Given the description of an element on the screen output the (x, y) to click on. 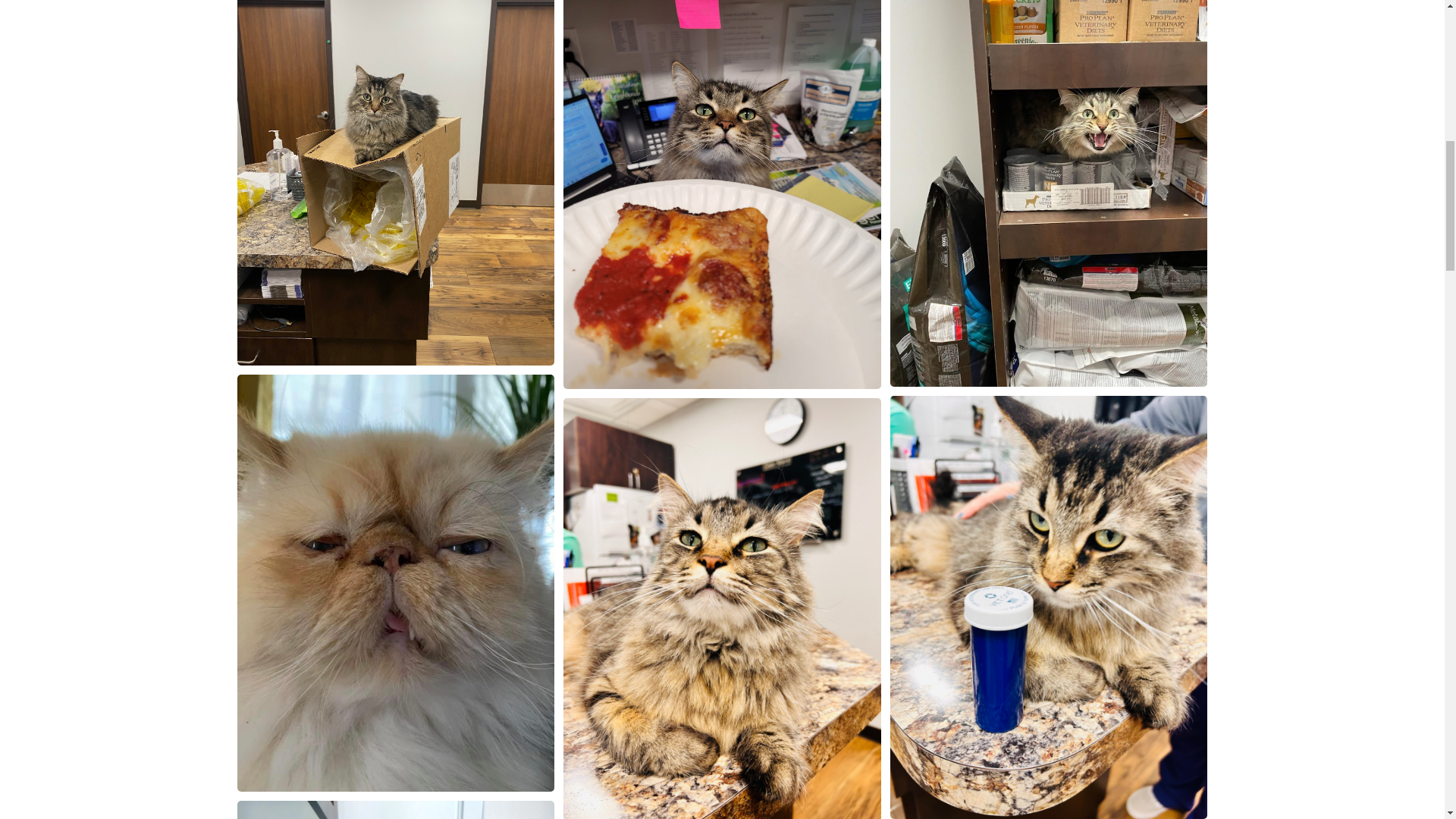
Dumpling (394, 582)
Ralph with pill vials (394, 182)
Ralph, interesting cat (721, 608)
Ralph Box (394, 809)
